Given the description of an element on the screen output the (x, y) to click on. 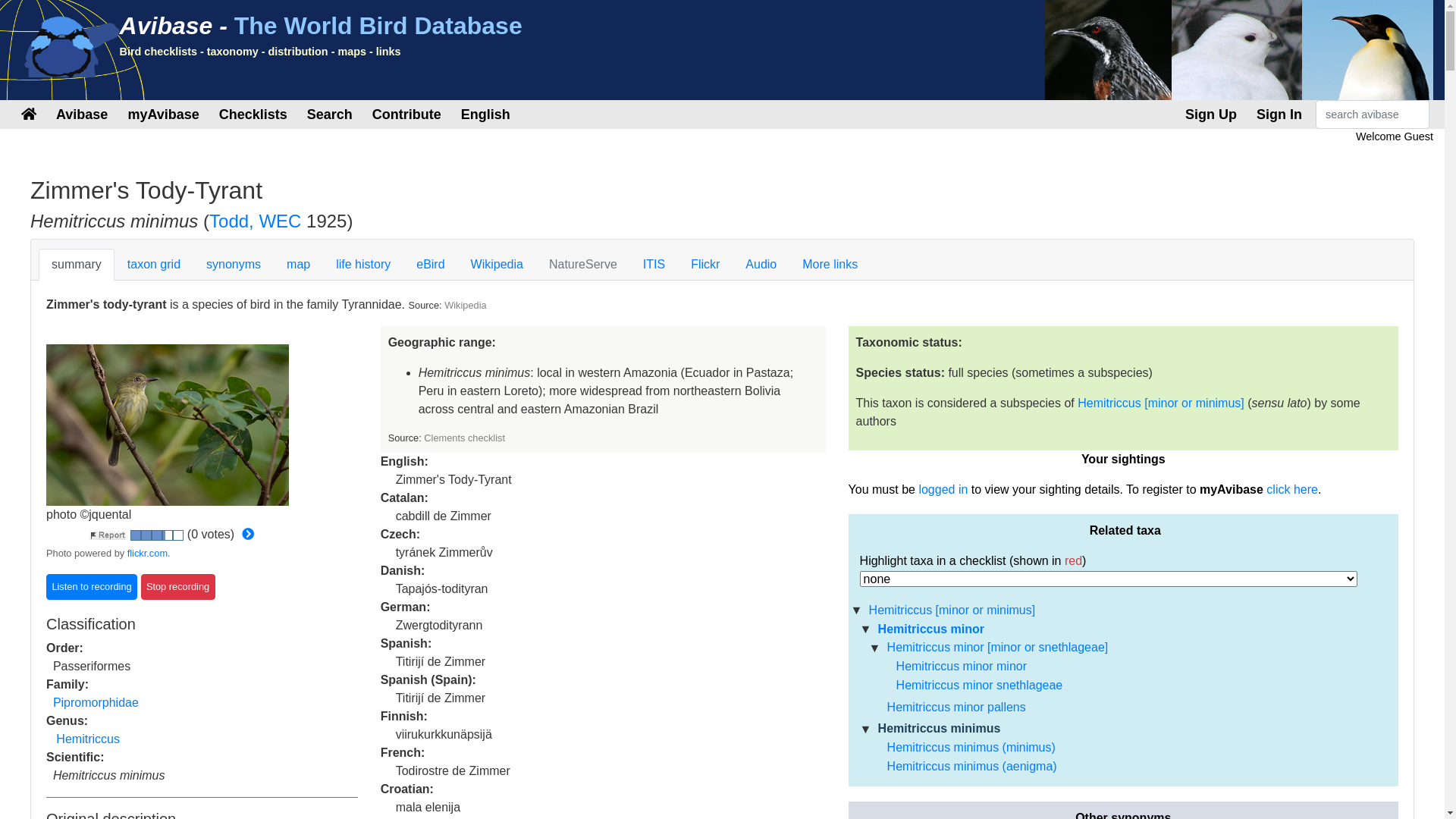
Avibase Element type: text (81, 114)
map Element type: text (298, 264)
eBird Element type: text (430, 264)
Hemitriccus Element type: text (87, 738)
click here Element type: text (1291, 489)
Hemitriccus minor pallens Element type: text (956, 705)
synonyms Element type: text (233, 264)
ITIS Element type: text (653, 264)
Sign In Element type: text (1279, 114)
Hemitriccus [minor or minimus] Element type: text (952, 609)
Hemitriccus minor snethlageae Element type: text (979, 684)
Sign Up Element type: text (1210, 114)
Hemitriccus [minor or minimus] Element type: text (1160, 402)
English Element type: text (485, 114)
Vote = 3 Element type: hover (156, 535)
logged in Element type: text (942, 489)
Audio Element type: text (760, 264)
summary Element type: text (76, 264)
NatureServe Element type: text (583, 264)
flickr.com Element type: text (147, 552)
Report as inappropriate Element type: hover (107, 534)
life history Element type: text (363, 264)
Flickr Element type: text (704, 264)
Hemitriccus minor Element type: text (931, 627)
Search Element type: text (329, 114)
More links Element type: text (829, 264)
Hemitriccus minimus (aenigma) Element type: text (972, 765)
Contribute Element type: text (406, 114)
taxon grid Element type: text (153, 264)
Main page Element type: hover (28, 113)
Hemitriccus minor minor Element type: text (961, 665)
Vote = 2 Element type: hover (146, 535)
Wikipedia Element type: text (465, 304)
Hemitriccus minor [minor or snethlageae] Element type: text (997, 646)
Checklists Element type: text (253, 114)
Clements checklist Element type: text (464, 437)
Vote = 1 Element type: hover (135, 535)
Vote = 5 Element type: hover (177, 535)
Pipromorphidae Element type: text (95, 702)
Vote = 4 Element type: hover (167, 535)
Todd, WEC Element type: text (255, 220)
Hemitriccus minimus (minimus) Element type: text (971, 746)
Change photo Element type: hover (247, 533)
Wikipedia Element type: text (497, 264)
myAvibase Element type: text (162, 114)
